Given the description of an element on the screen output the (x, y) to click on. 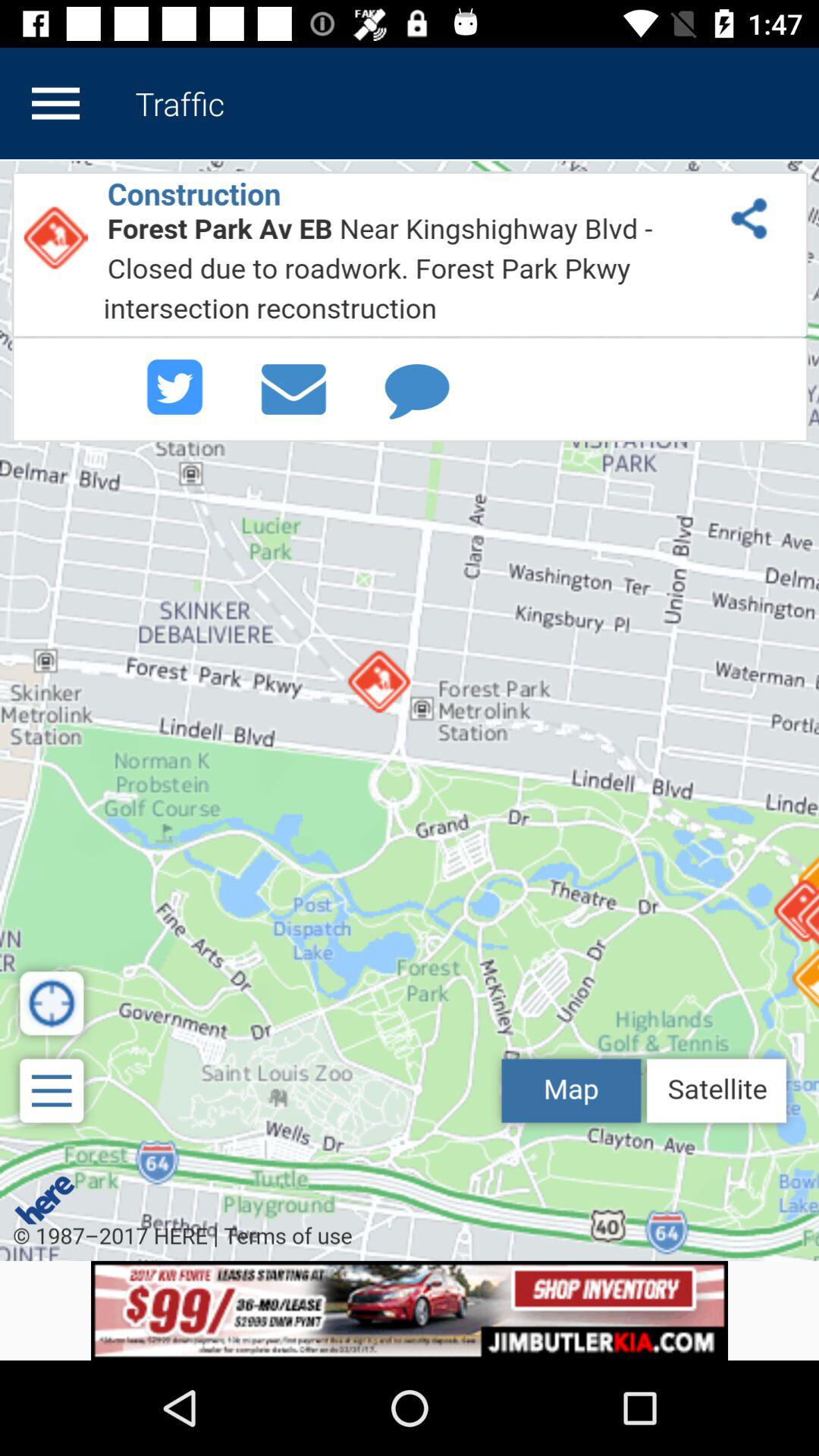
go to advertisement website (409, 1310)
